Given the description of an element on the screen output the (x, y) to click on. 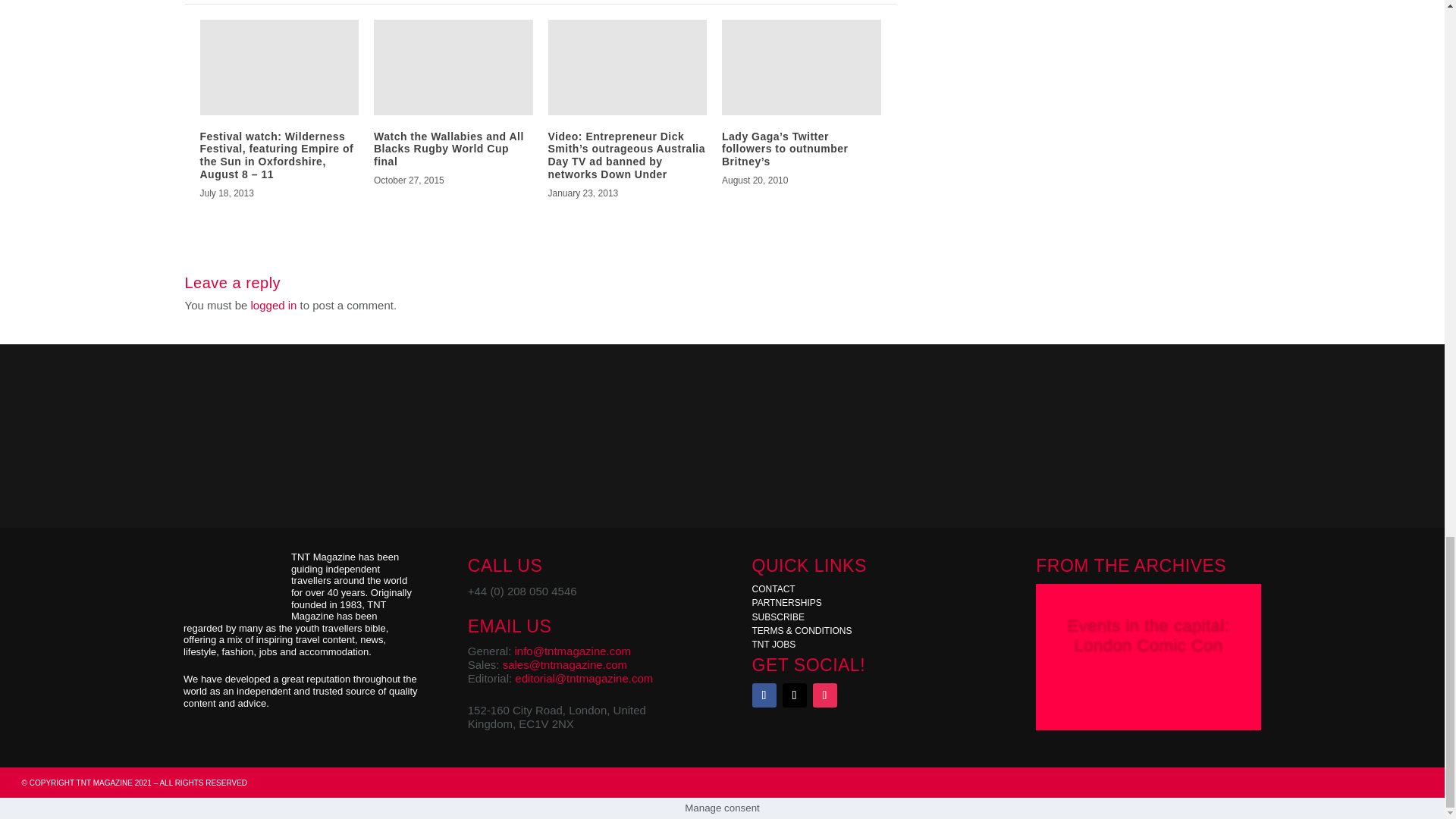
Watch the Wallabies and All Blacks Rugby World Cup final (449, 149)
